Given the description of an element on the screen output the (x, y) to click on. 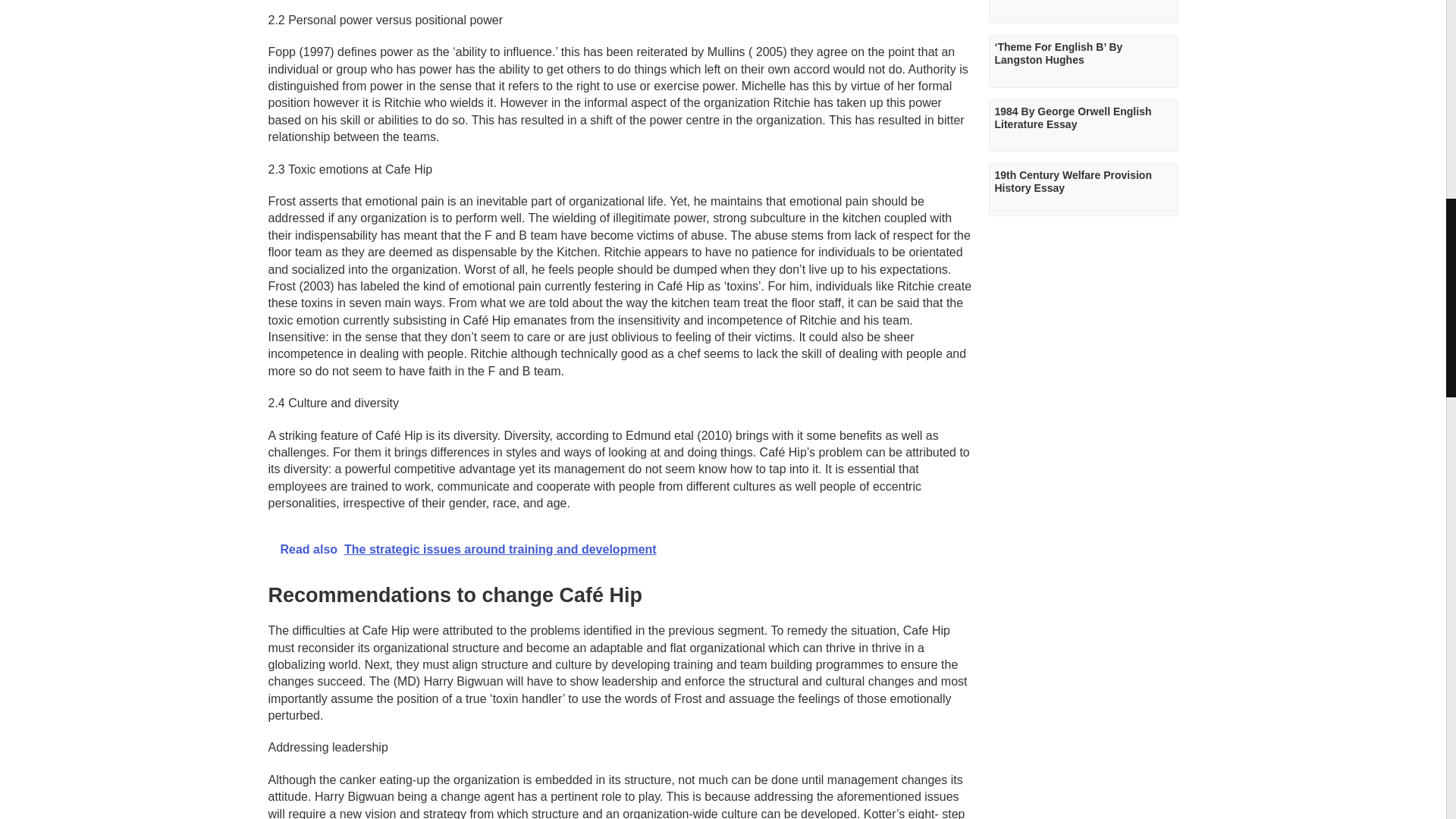
1984 By George Orwell English Literature Essay (1082, 125)
19th Century Welfare Provision History Essay (1082, 189)
